Given the description of an element on the screen output the (x, y) to click on. 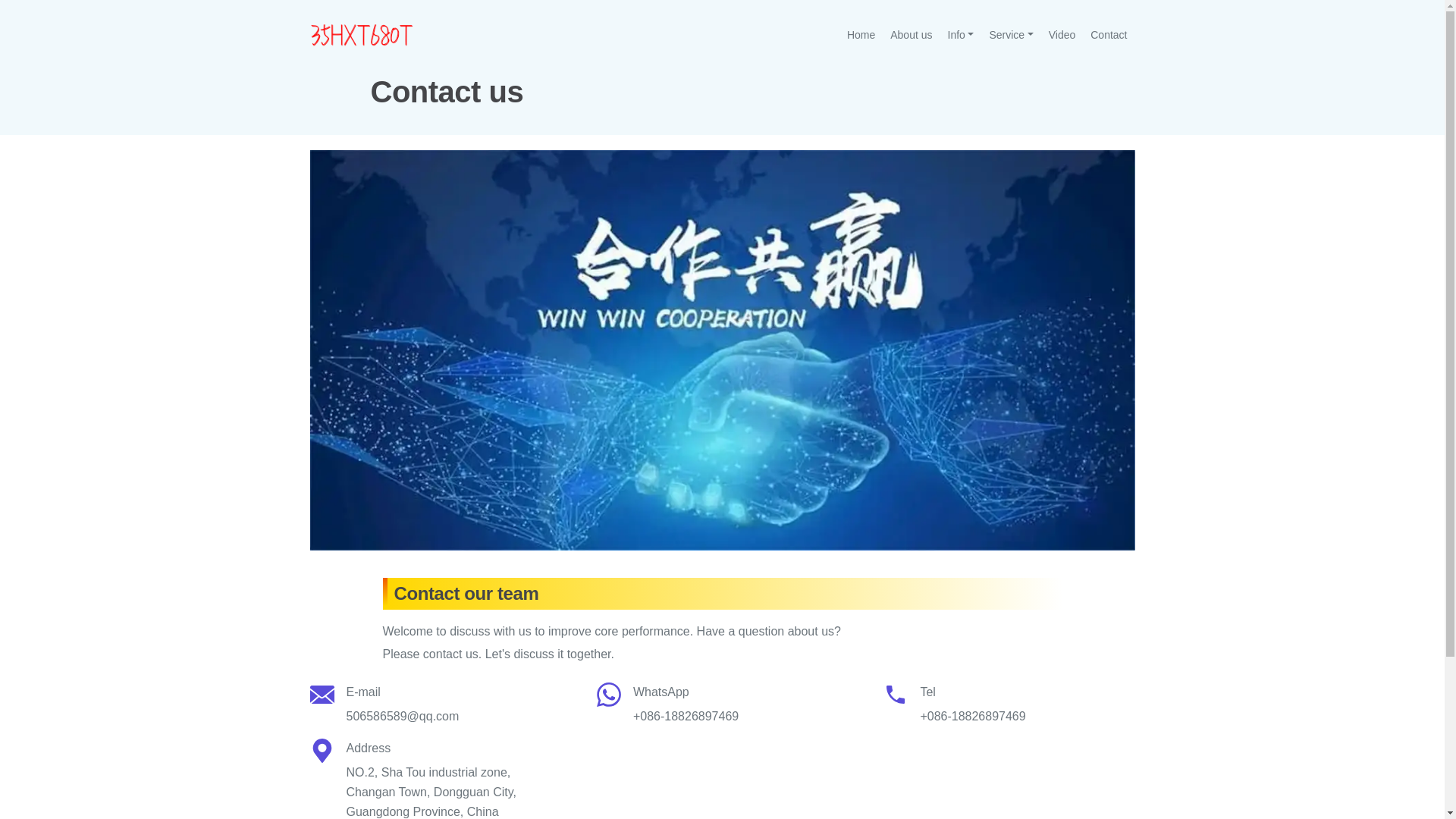
About us Element type: text (910, 34)
Home
(current) Element type: text (860, 34)
Info Element type: text (961, 34)
Contact Element type: text (1108, 34)
Video Element type: text (1062, 34)
Contact us Element type: hover (721, 350)
Service Element type: text (1010, 34)
